Given the description of an element on the screen output the (x, y) to click on. 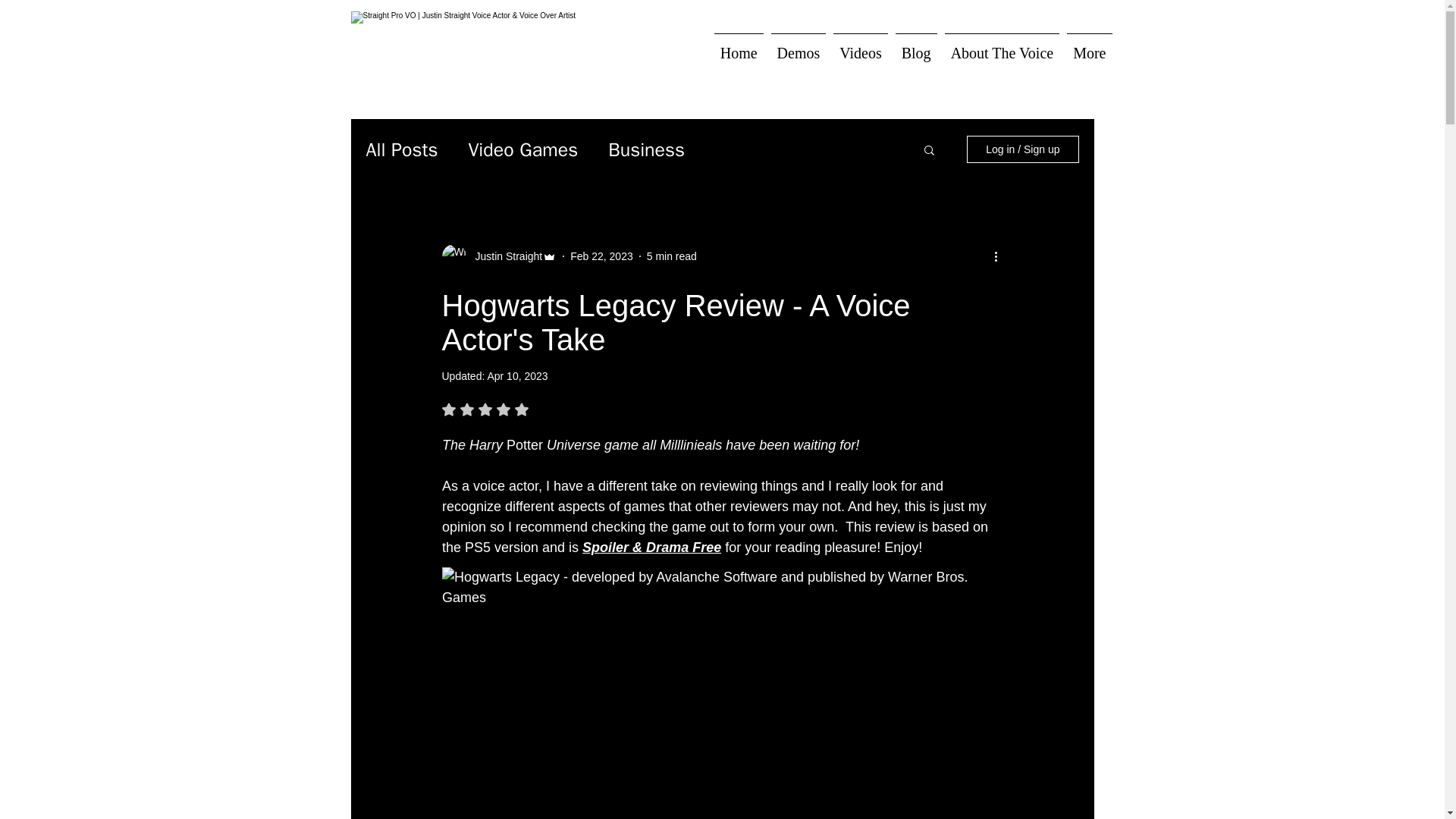
5 min read (671, 256)
About The Voice (1002, 56)
Demos (798, 56)
Videos (860, 56)
Business (646, 148)
Video Games (522, 148)
Apr 10, 2023 (516, 376)
Blog (915, 56)
All Posts (401, 148)
Justin Straight (503, 256)
Feb 22, 2023 (521, 409)
Home (601, 256)
